Given the description of an element on the screen output the (x, y) to click on. 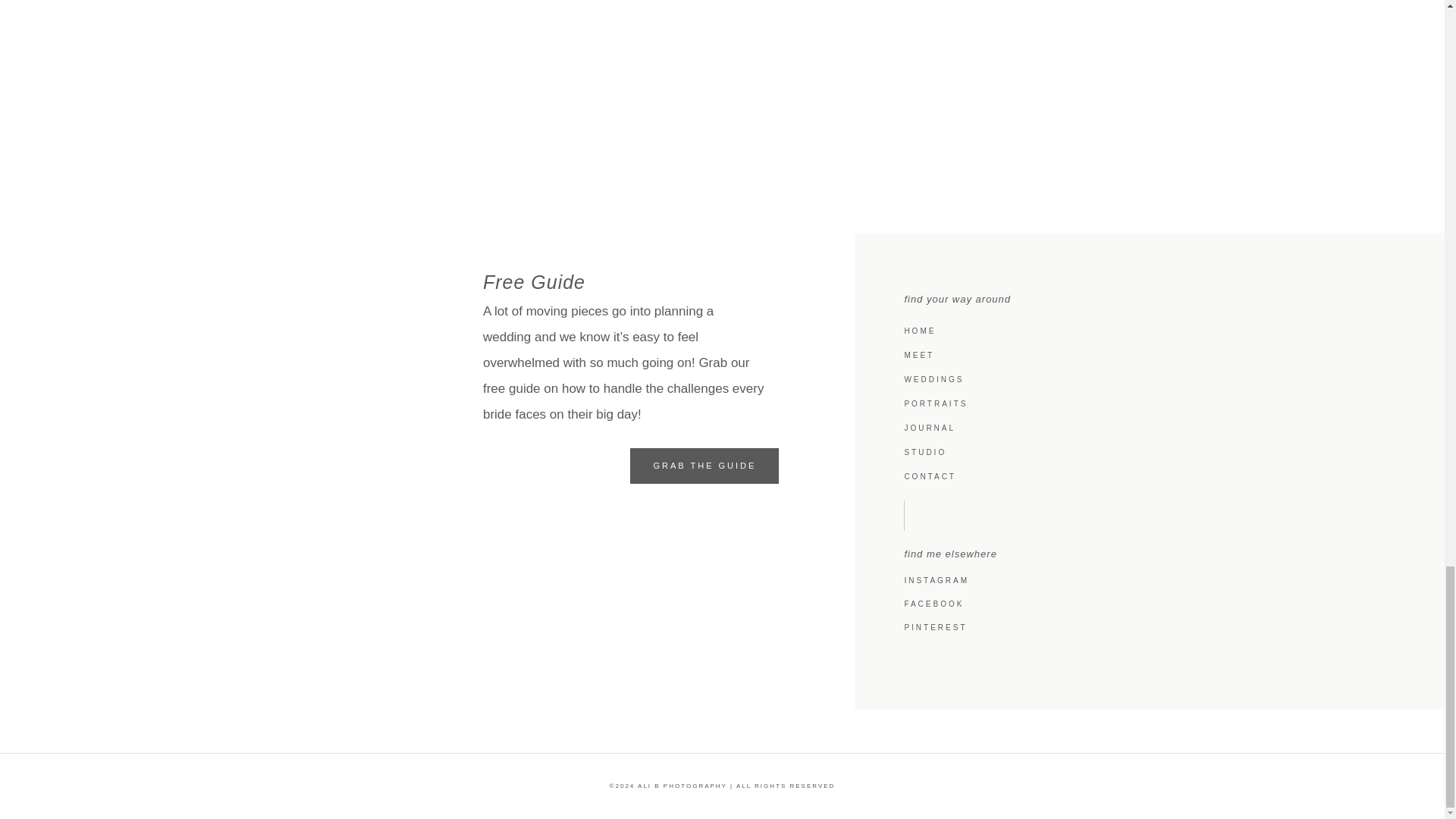
PORTRAITS (1157, 404)
JOURNAL (1157, 428)
CONTACT (1157, 476)
GRAB THE GUIDE (704, 465)
MEET (1157, 355)
HOME (1157, 331)
STUDIO (1157, 452)
WEDDINGS (1157, 379)
